Given the description of an element on the screen output the (x, y) to click on. 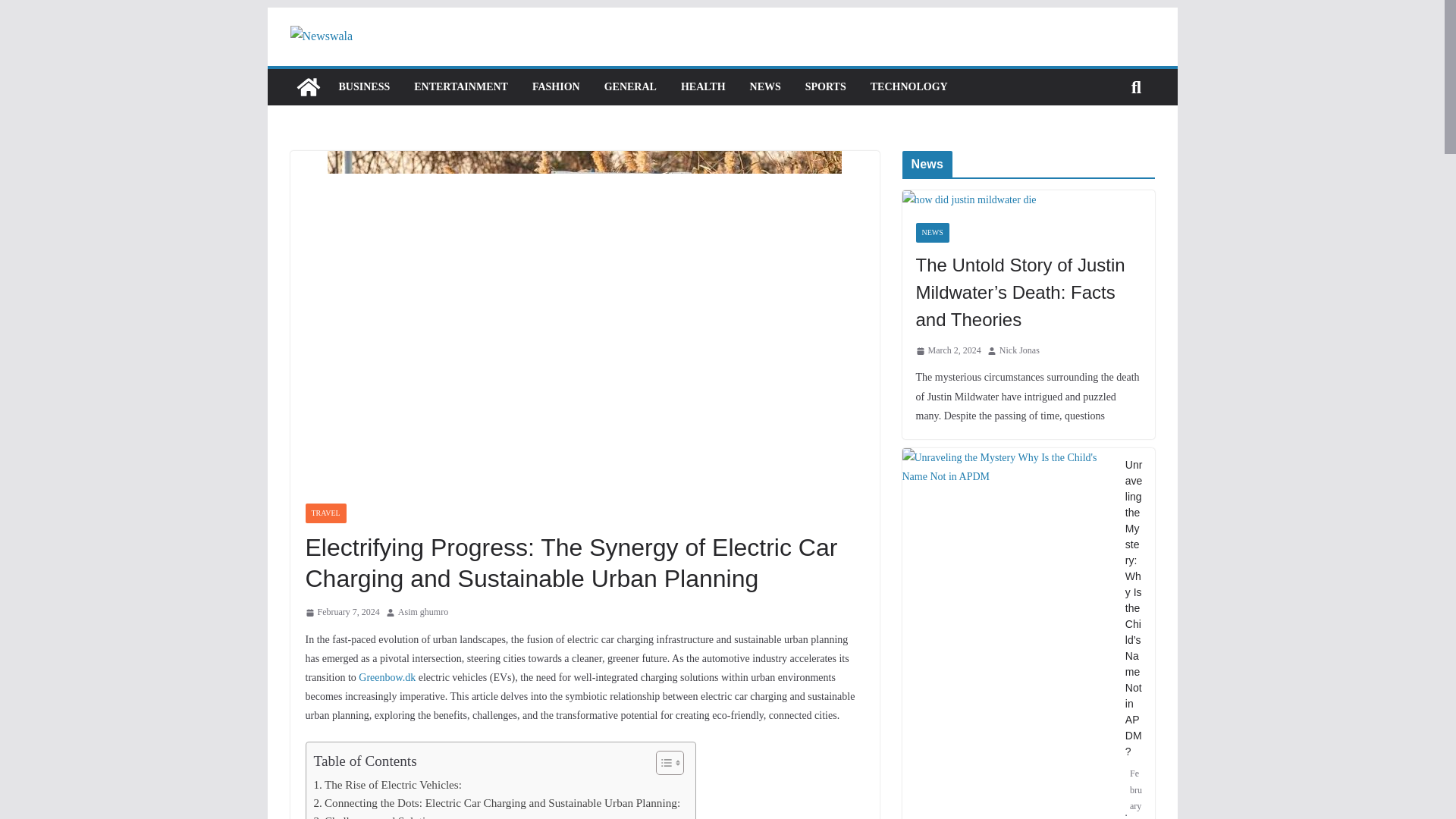
FASHION (555, 86)
GENERAL (630, 86)
ENTERTAINMENT (460, 86)
Asim ghumro (422, 612)
The Rise of Electric Vehicles: (387, 784)
TECHNOLOGY (908, 86)
The Rise of Electric Vehicles: (387, 784)
HEALTH (703, 86)
February 7, 2024 (341, 612)
Challenges and Solutions: (379, 815)
Asim ghumro (422, 612)
2:07 pm (341, 612)
Challenges and Solutions: (379, 815)
